Given the description of an element on the screen output the (x, y) to click on. 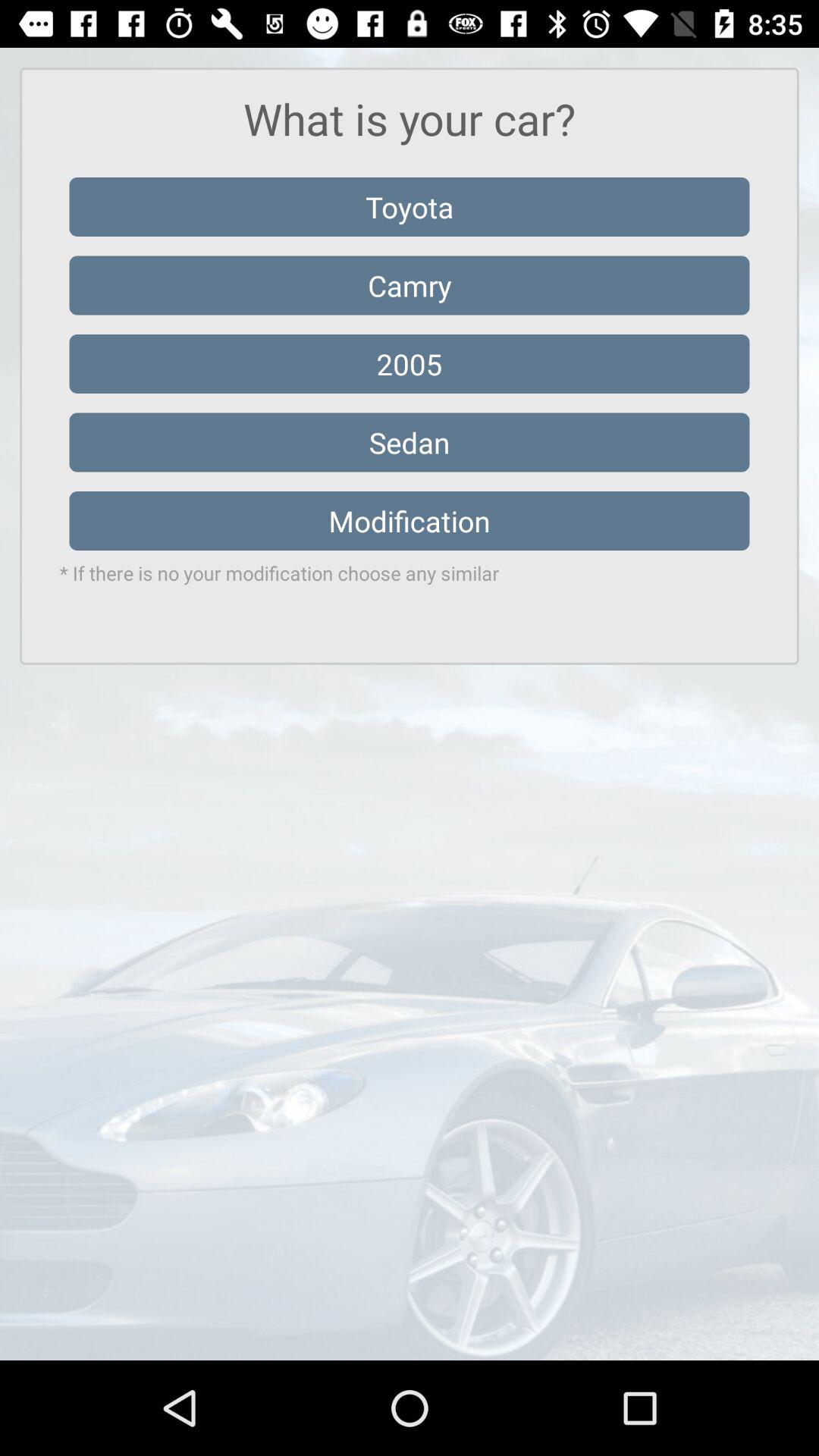
launch the icon below the 2005 (409, 442)
